Given the description of an element on the screen output the (x, y) to click on. 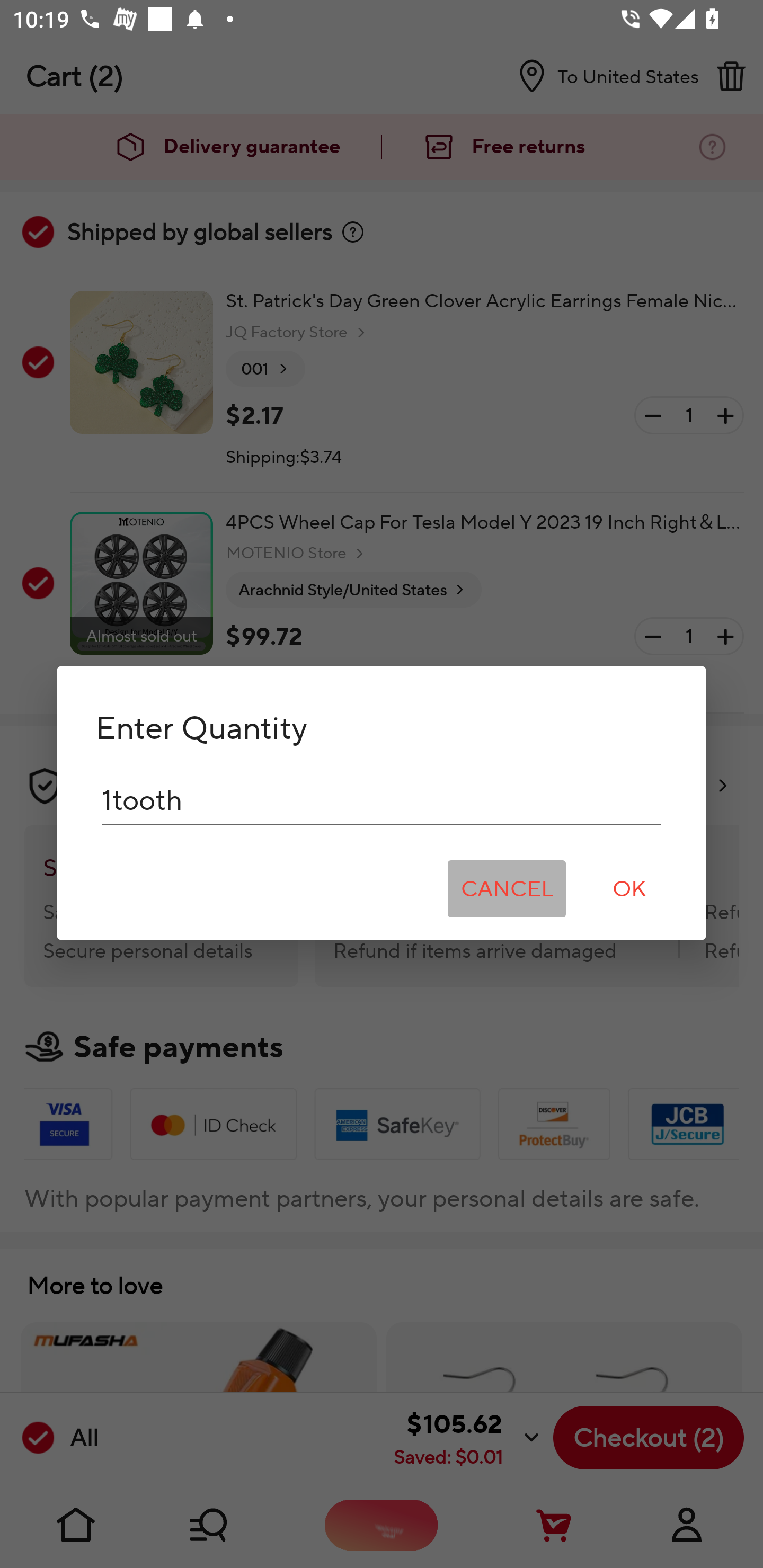
1tooth (381, 800)
CANCEL (506, 888)
OK (629, 888)
